Given the description of an element on the screen output the (x, y) to click on. 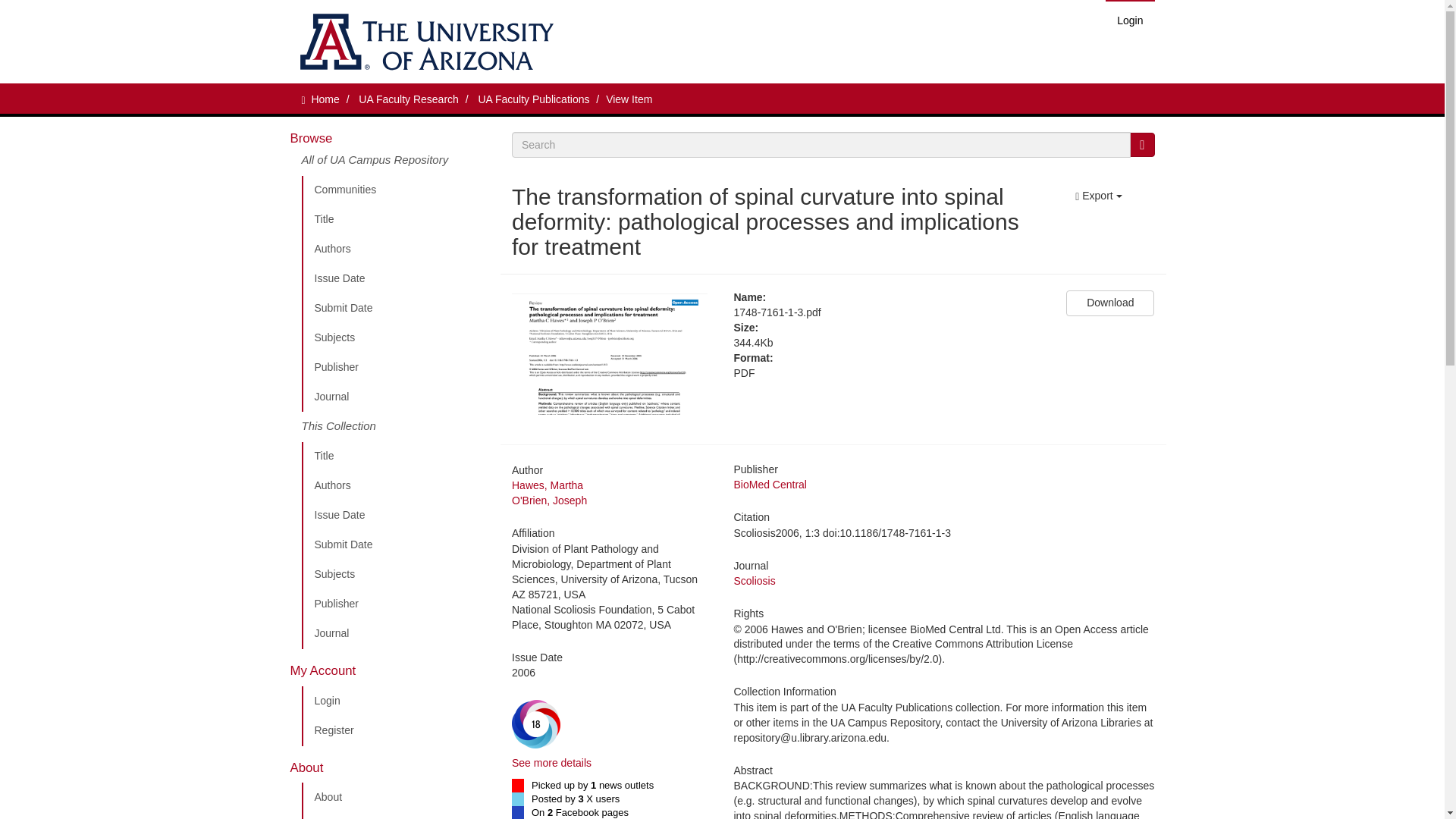
UA Faculty Research (408, 99)
Subjects (395, 574)
All of UA Campus Repository (395, 164)
Journal (395, 634)
Home (325, 99)
UA Faculty Publications (395, 815)
Title (395, 456)
Title (395, 219)
About (395, 797)
Journal (395, 397)
1748-7161-1-3.pdf (888, 313)
Communities (395, 190)
Authors (395, 249)
UA Faculty Publications (533, 99)
Login (395, 701)
